Given the description of an element on the screen output the (x, y) to click on. 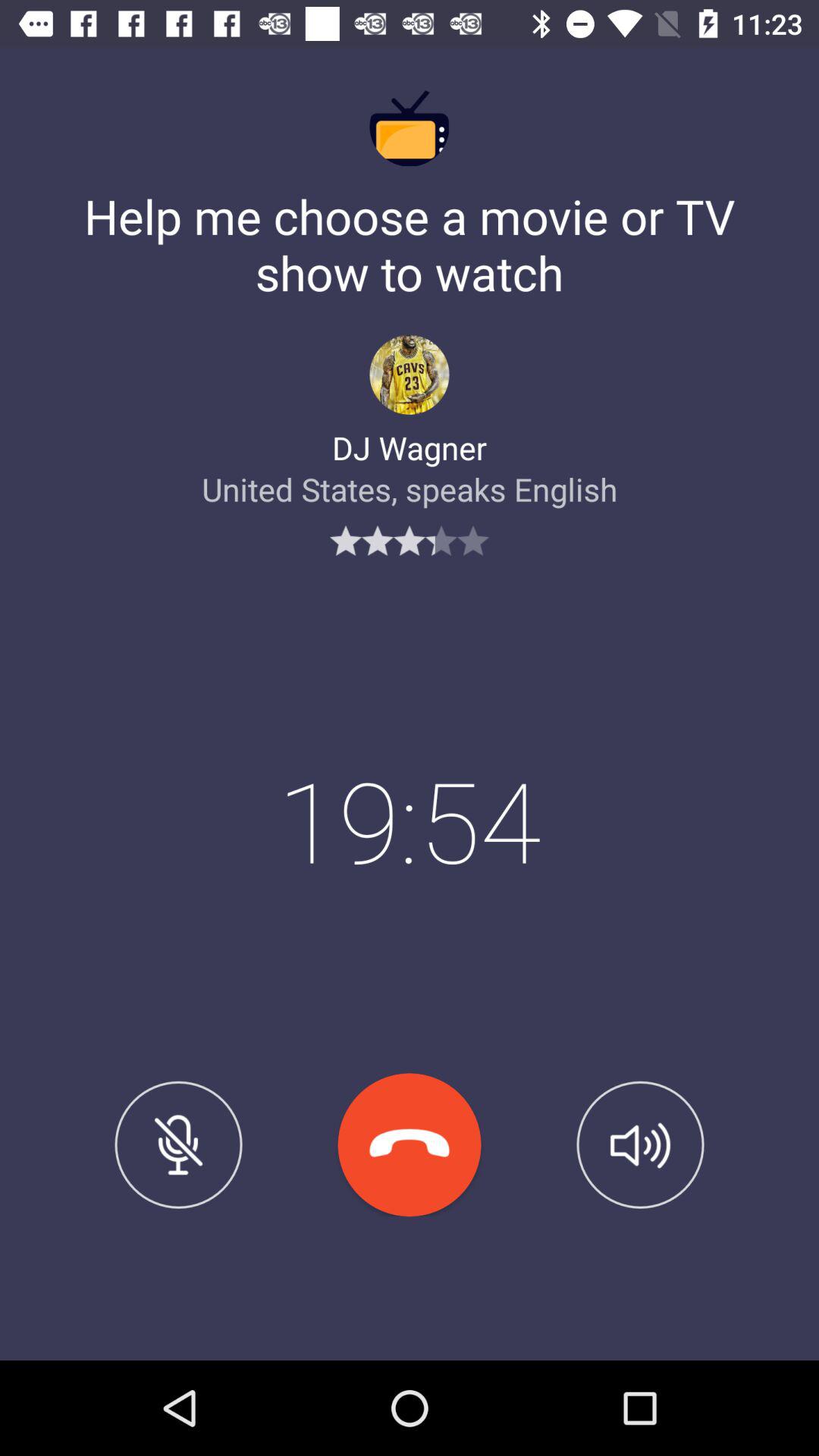
turn off item below united states speaks (178, 1144)
